Given the description of an element on the screen output the (x, y) to click on. 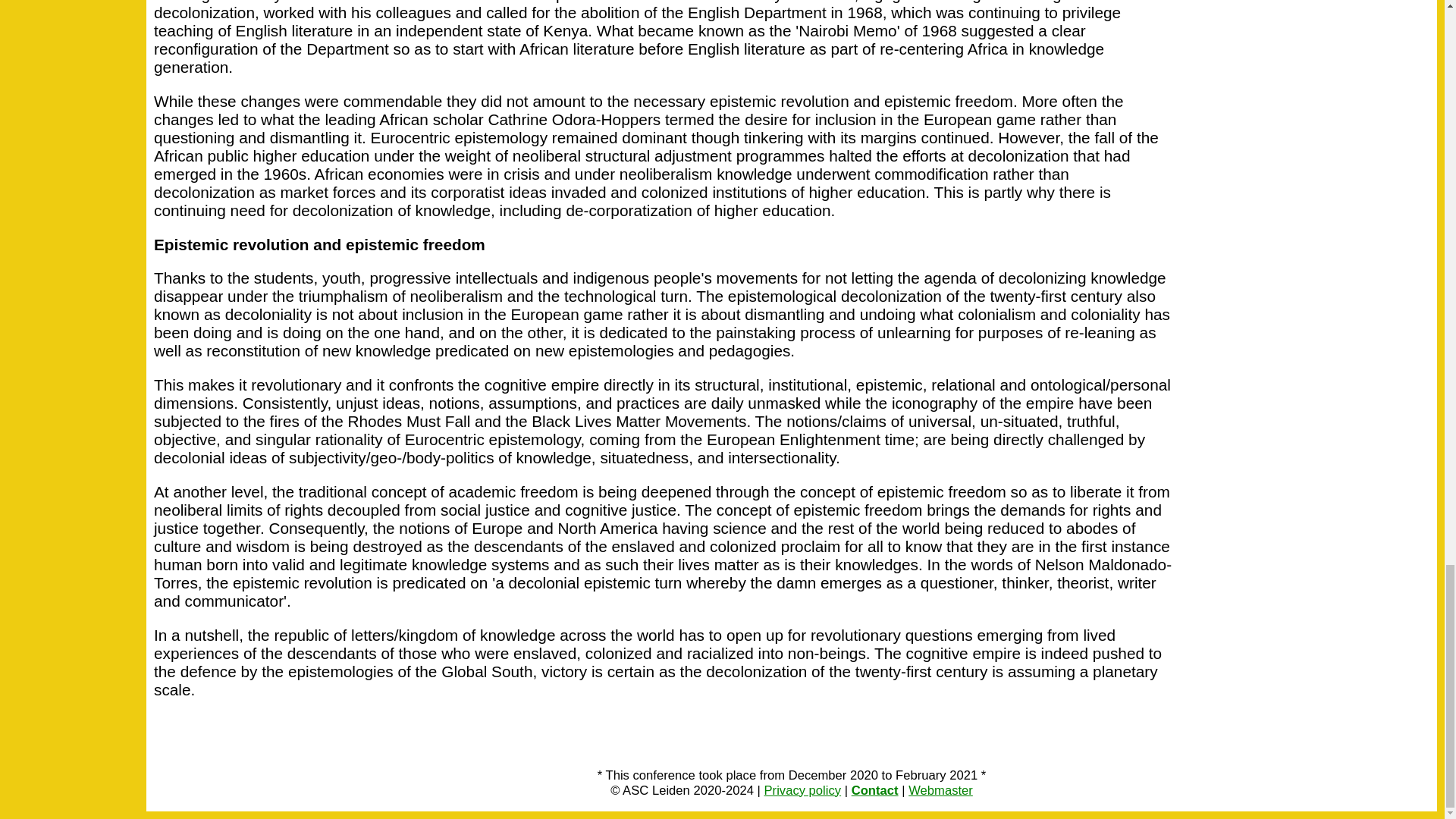
Webmaster (940, 789)
Privacy policy (802, 789)
Contact (874, 789)
